Given the description of an element on the screen output the (x, y) to click on. 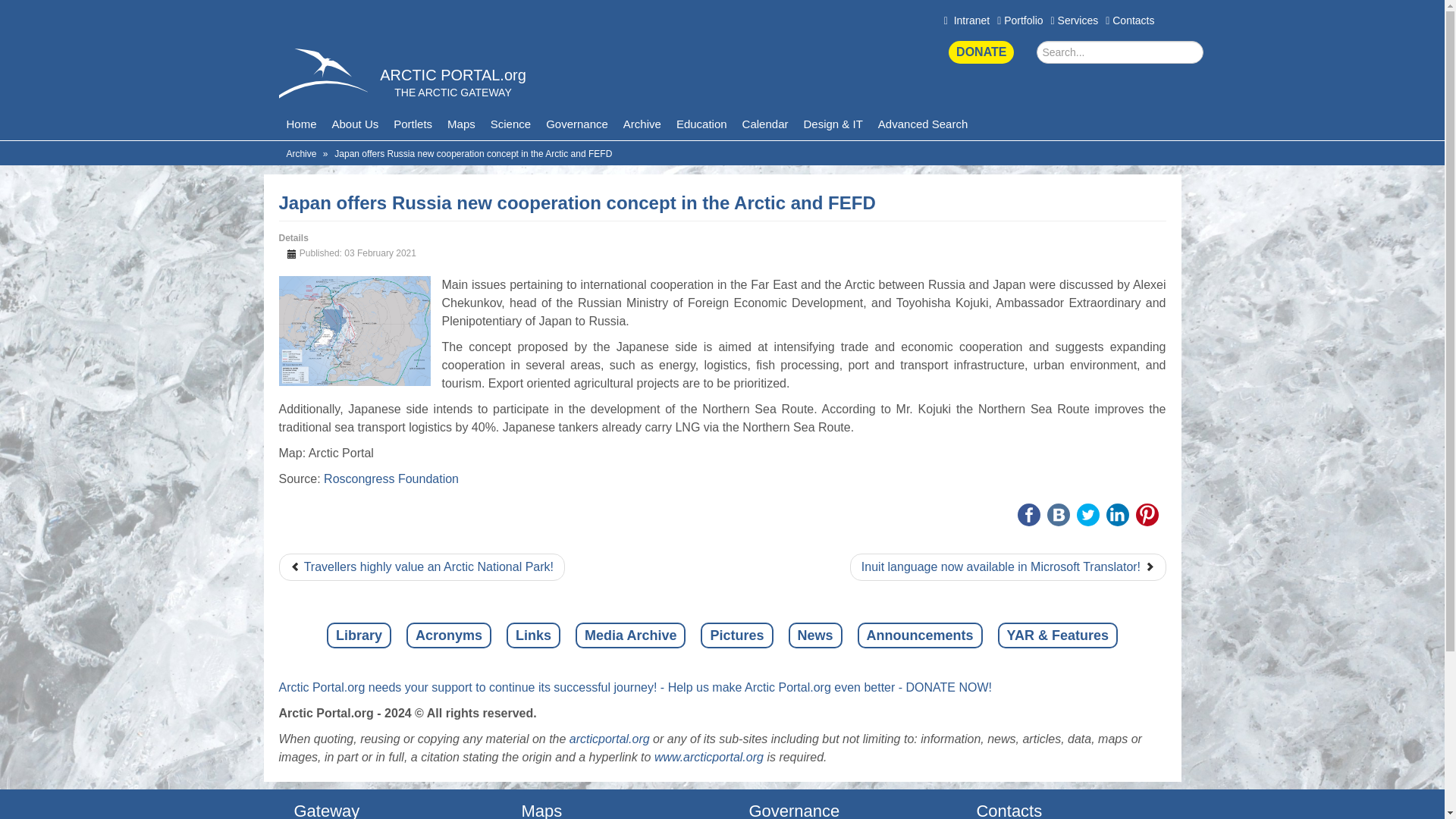
Maps (461, 124)
Library (358, 635)
Services (1075, 20)
Give us some love!  Make a donation (981, 51)
  Intranet (966, 20)
Vkontakte (1058, 514)
Contacts (1129, 20)
Twitter (1088, 514)
Pictures (736, 635)
Services (1075, 20)
LinkedIn (1117, 514)
Governance (576, 124)
Media Archive (630, 635)
Links (533, 635)
Acronyms (449, 635)
